Given the description of an element on the screen output the (x, y) to click on. 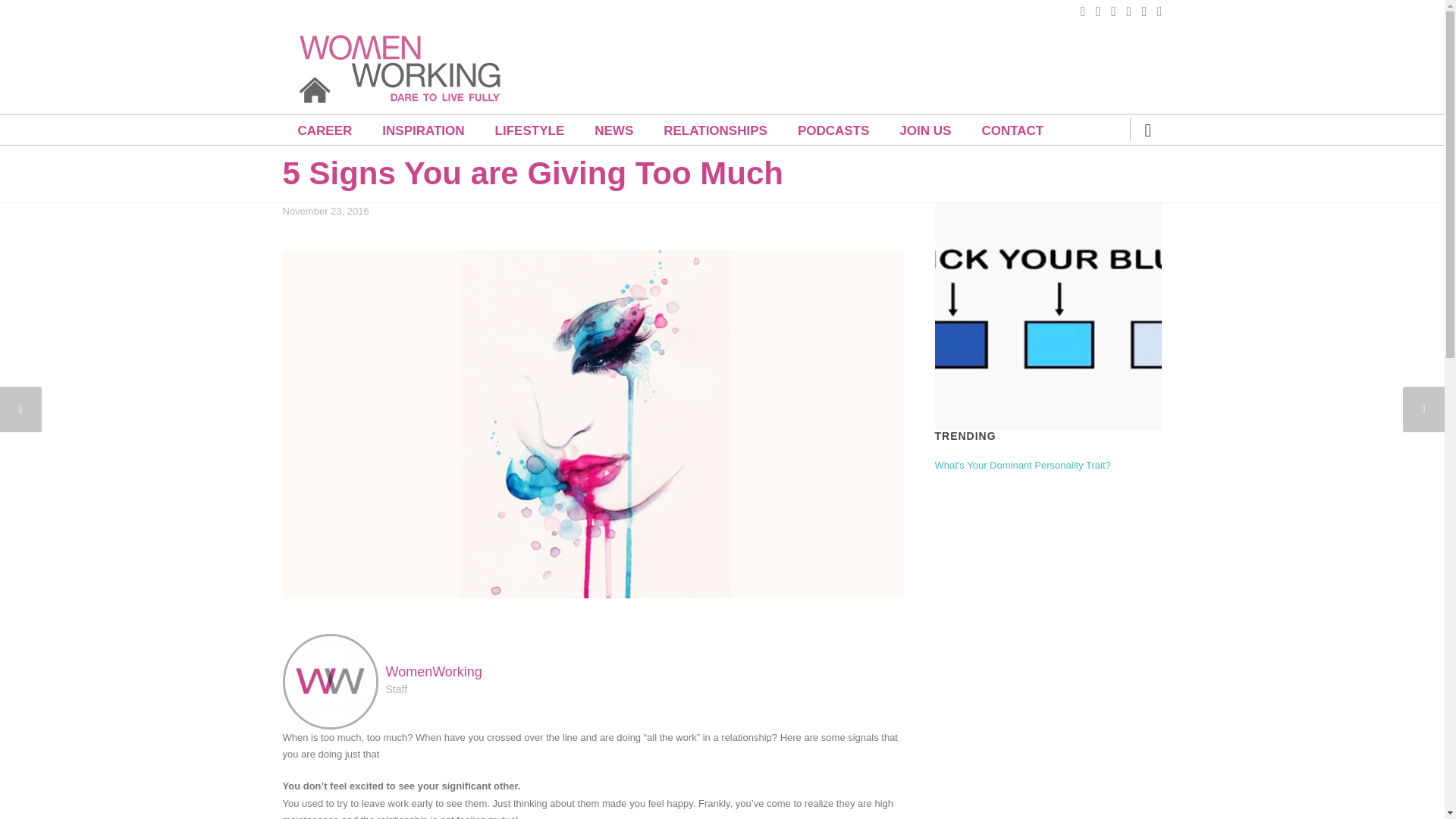
NEWS (613, 131)
PODCASTS (833, 131)
CONTACT (1012, 131)
LIFESTYLE (529, 131)
CAREER (324, 131)
JOIN US (924, 131)
RELATIONSHIPS (715, 131)
INSPIRATION (422, 131)
